Given the description of an element on the screen output the (x, y) to click on. 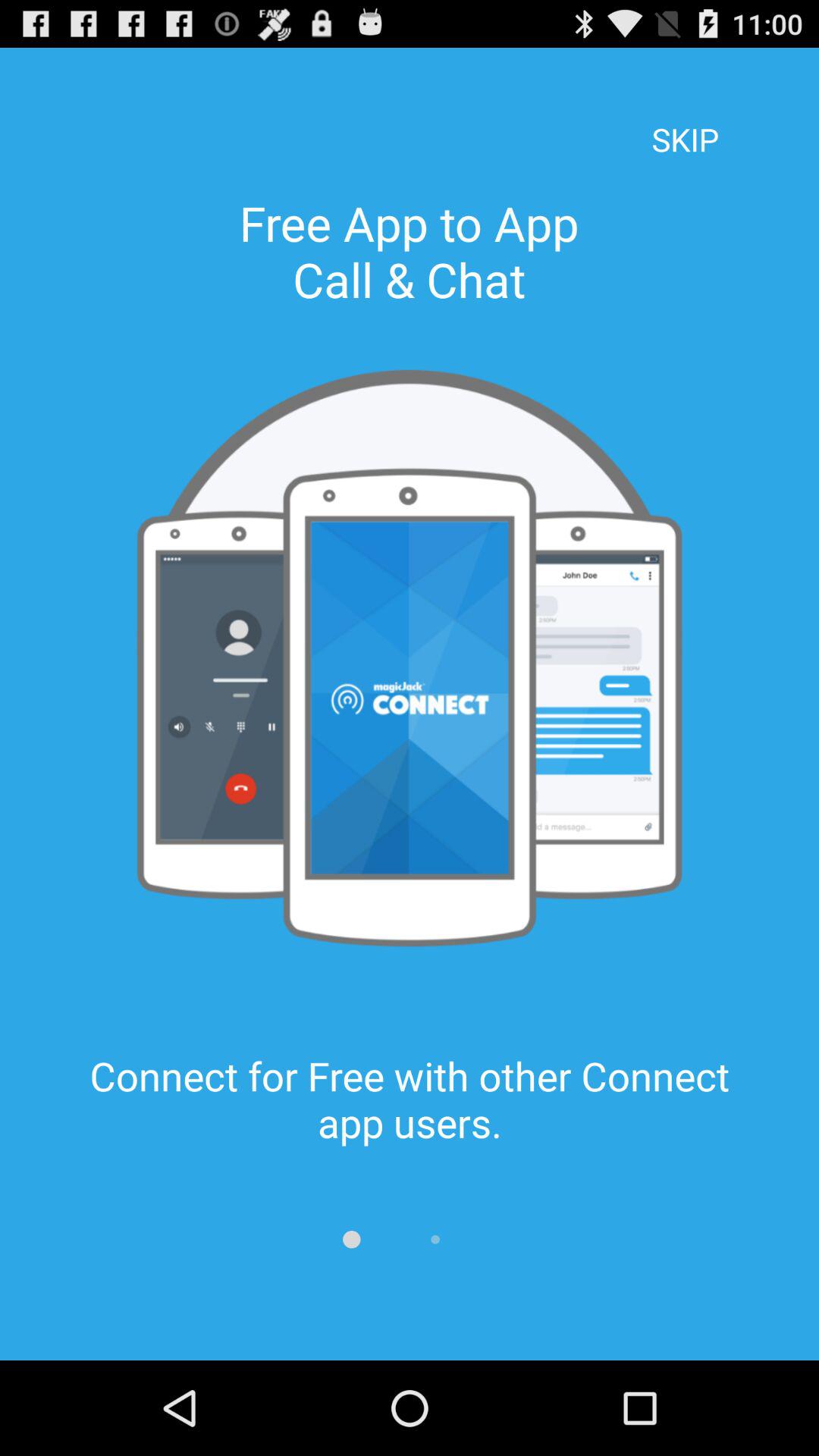
choose the item below the connect for free item (435, 1239)
